Given the description of an element on the screen output the (x, y) to click on. 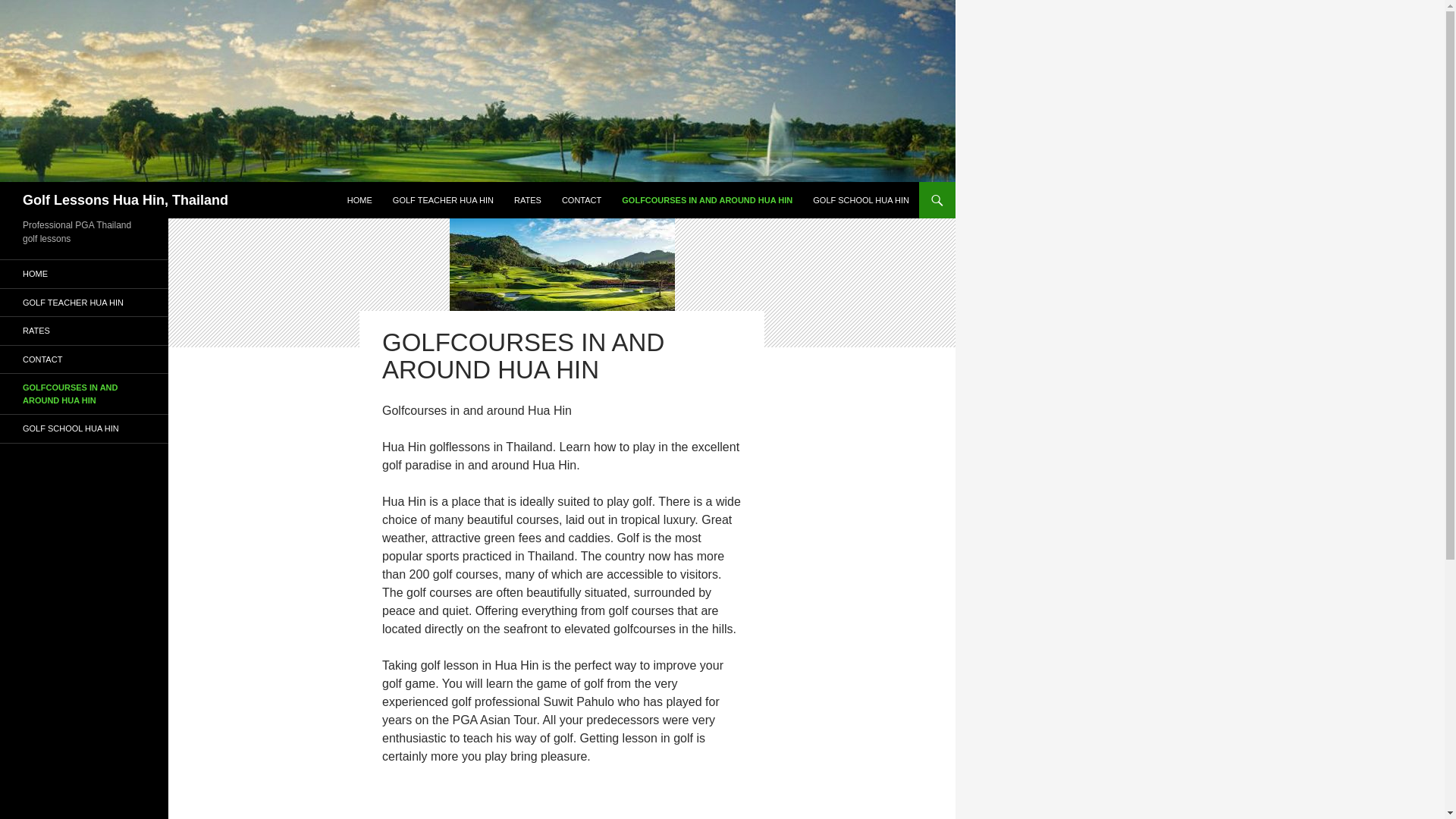
Golf Lessons Hua Hin, Thailand (125, 199)
GOLFCOURSES IN AND AROUND HUA HIN (707, 199)
GOLF TEACHER HUA HIN (84, 302)
GOLF SCHOOL HUA HIN (84, 428)
HOME (84, 274)
CONTACT (581, 199)
GOLFCOURSES IN AND AROUND HUA HIN (84, 393)
HOME (359, 199)
GOLF SCHOOL HUA HIN (860, 199)
